Given the description of an element on the screen output the (x, y) to click on. 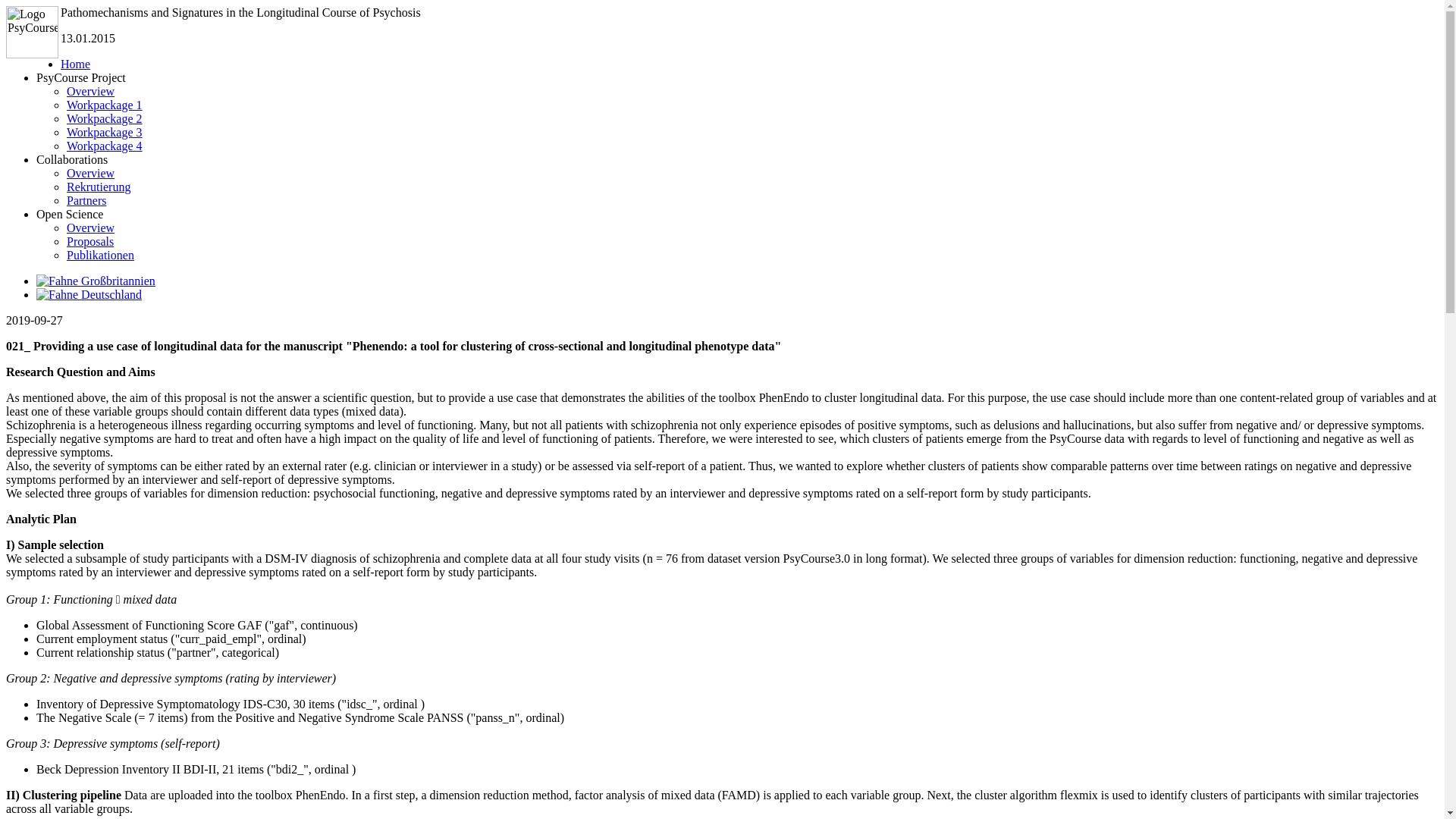
OPEN SCIENCE (846, 147)
COLLABORATIONS (680, 147)
HOME (348, 147)
PSYCOURSE PROJECT (514, 147)
